Given the description of an element on the screen output the (x, y) to click on. 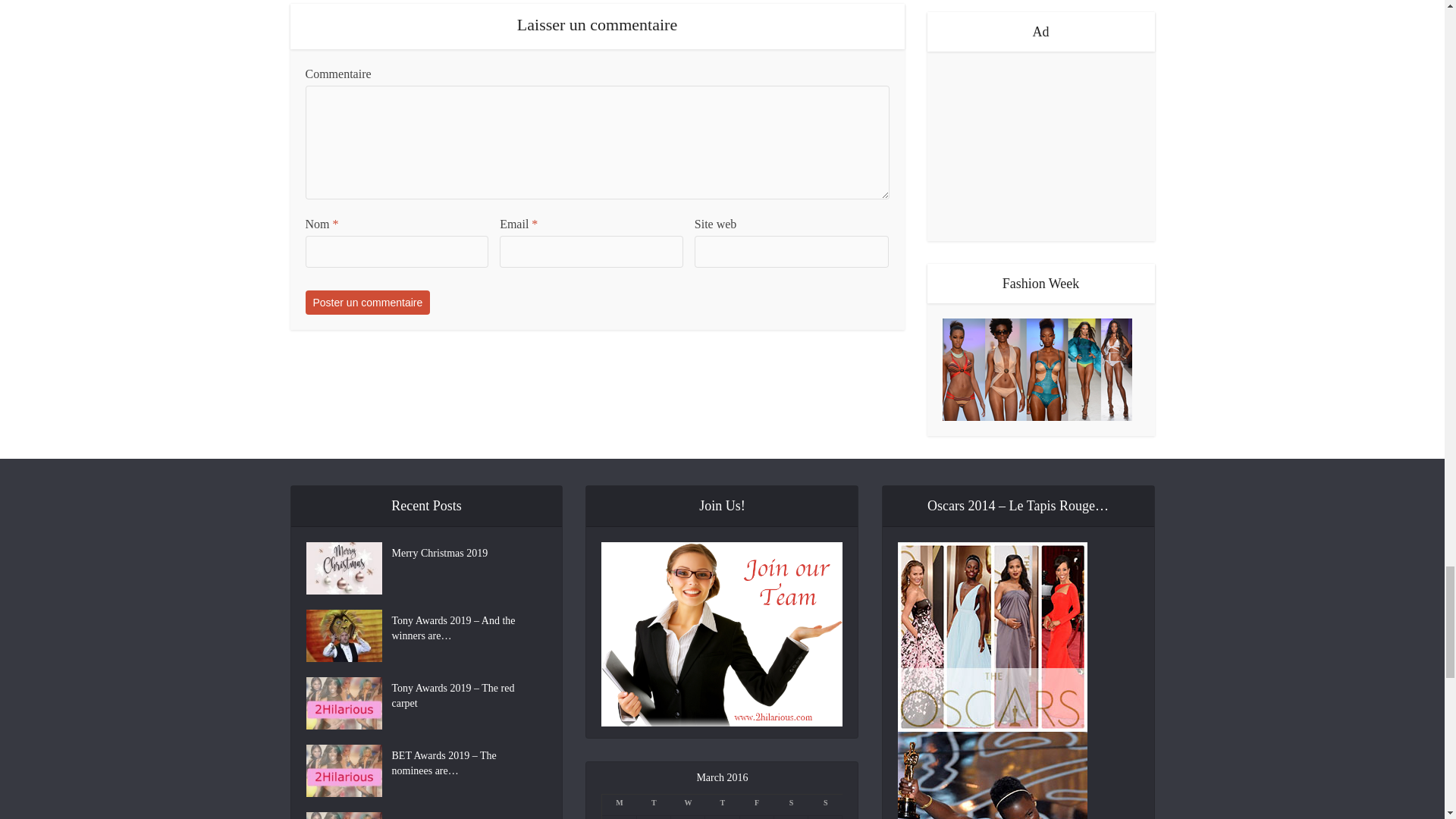
Poster un commentaire (366, 302)
